Given the description of an element on the screen output the (x, y) to click on. 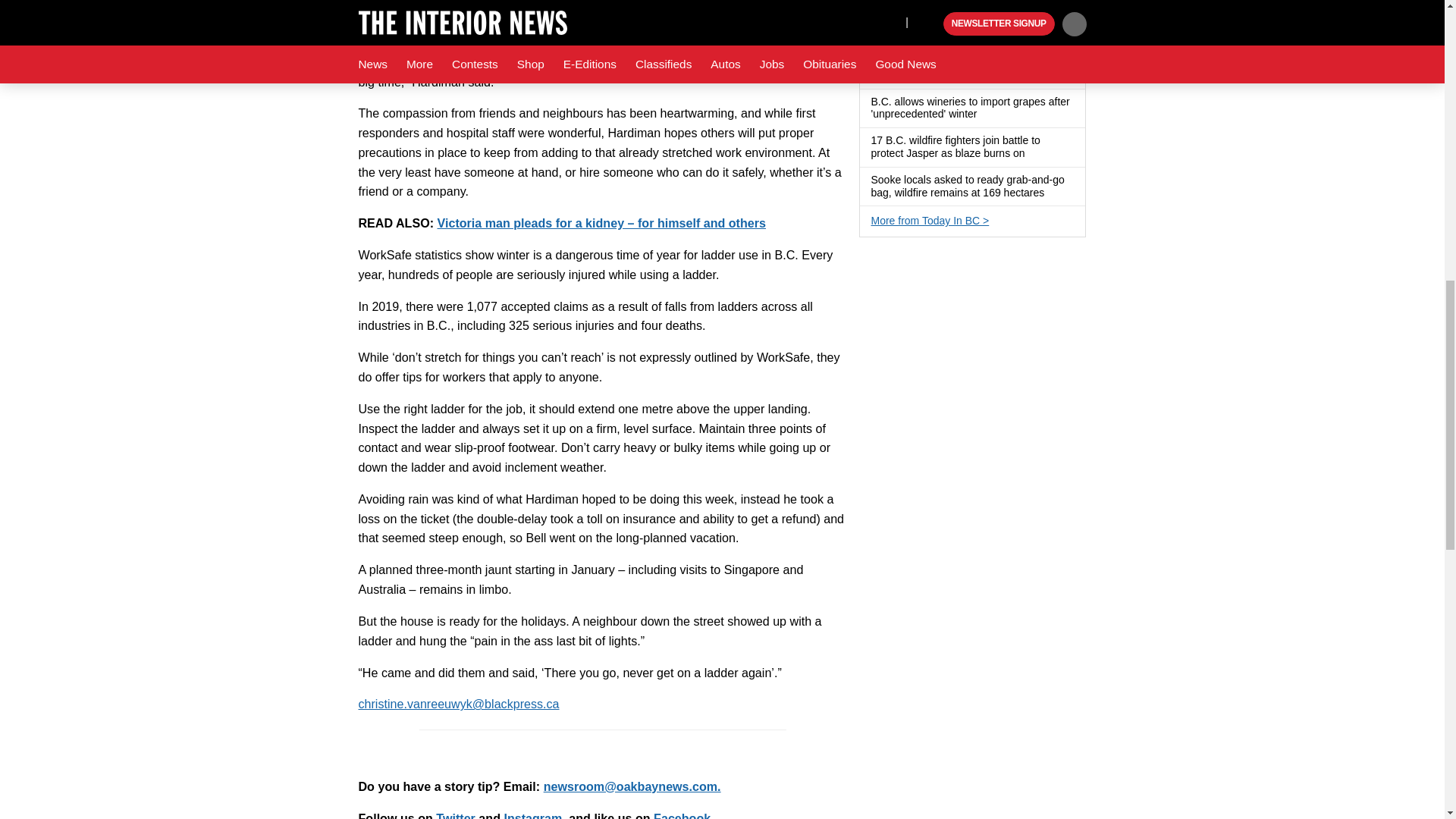
Has a gallery (972, 75)
